Given the description of an element on the screen output the (x, y) to click on. 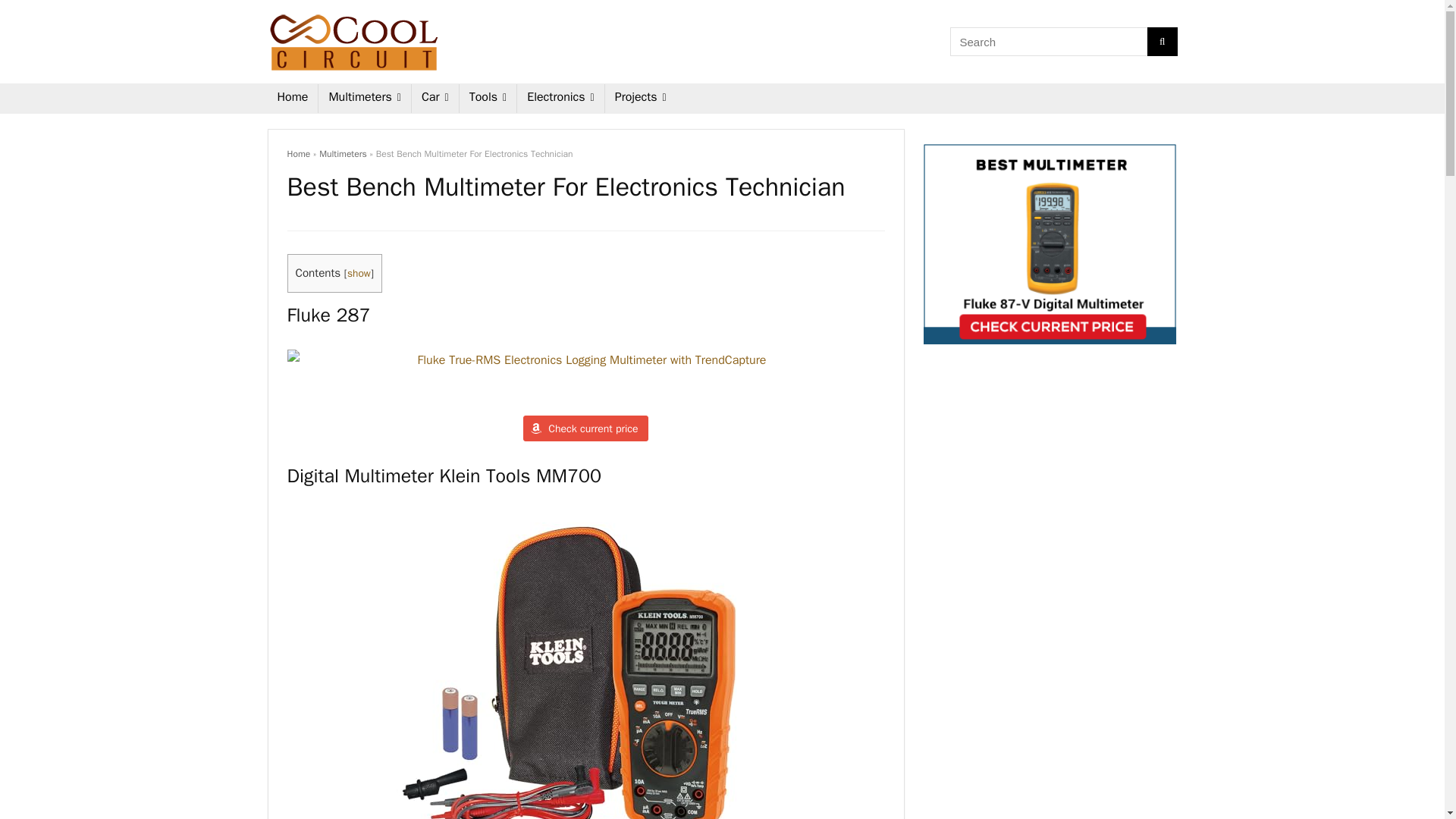
Electronics (560, 98)
Multimeters (364, 98)
Car (435, 98)
Projects (641, 98)
Tools (488, 98)
Check current price (584, 428)
Home (291, 98)
